Given the description of an element on the screen output the (x, y) to click on. 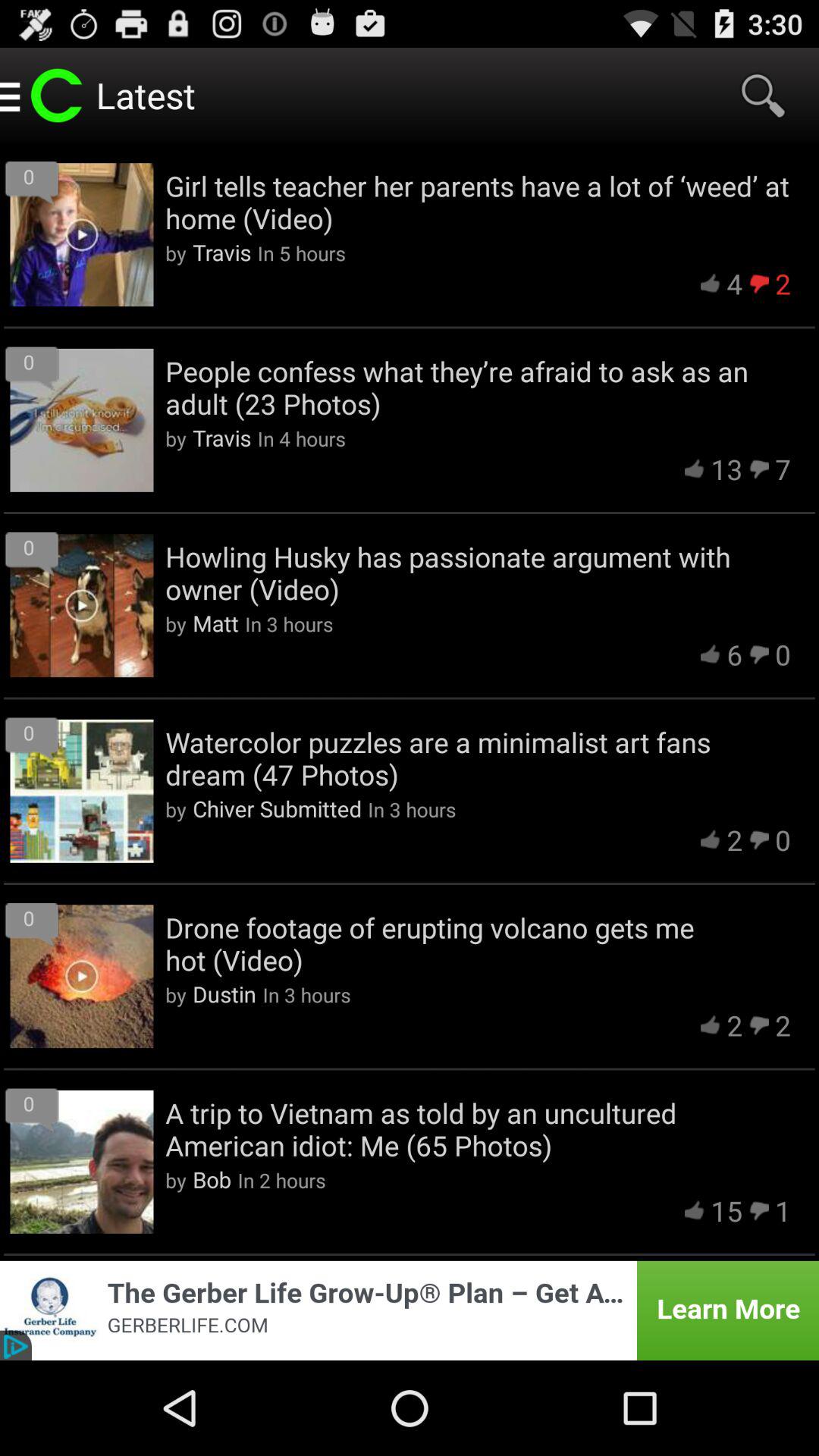
select icon above howling husky has item (783, 468)
